Given the description of an element on the screen output the (x, y) to click on. 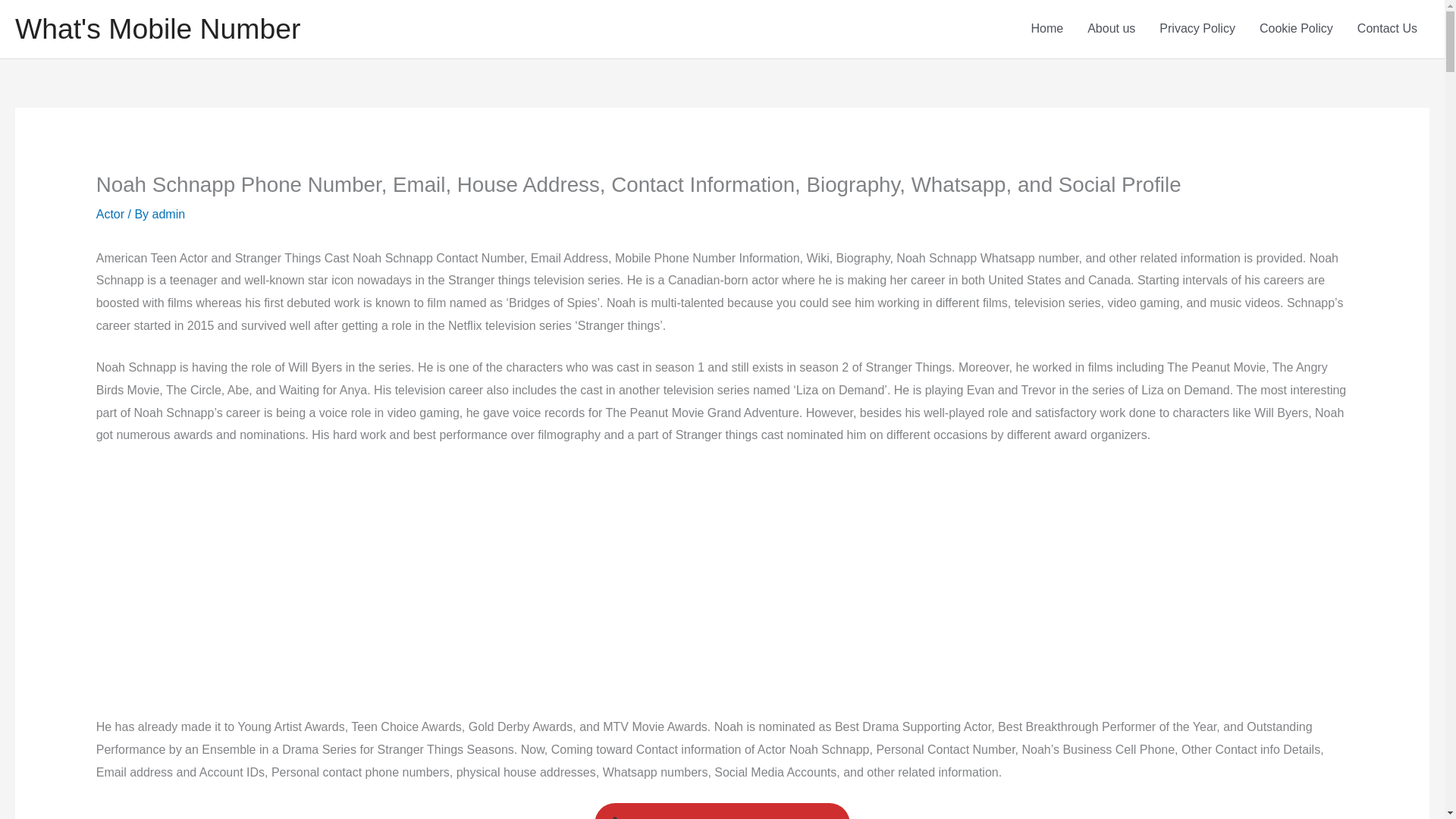
View all posts by admin (169, 214)
Advertisement (338, 572)
Privacy Policy (1197, 28)
Contact Us (1387, 28)
Actor (109, 214)
admin (169, 214)
What's Mobile Number (156, 29)
Cookie Policy (1296, 28)
About us (1111, 28)
Home (1047, 28)
